Given the description of an element on the screen output the (x, y) to click on. 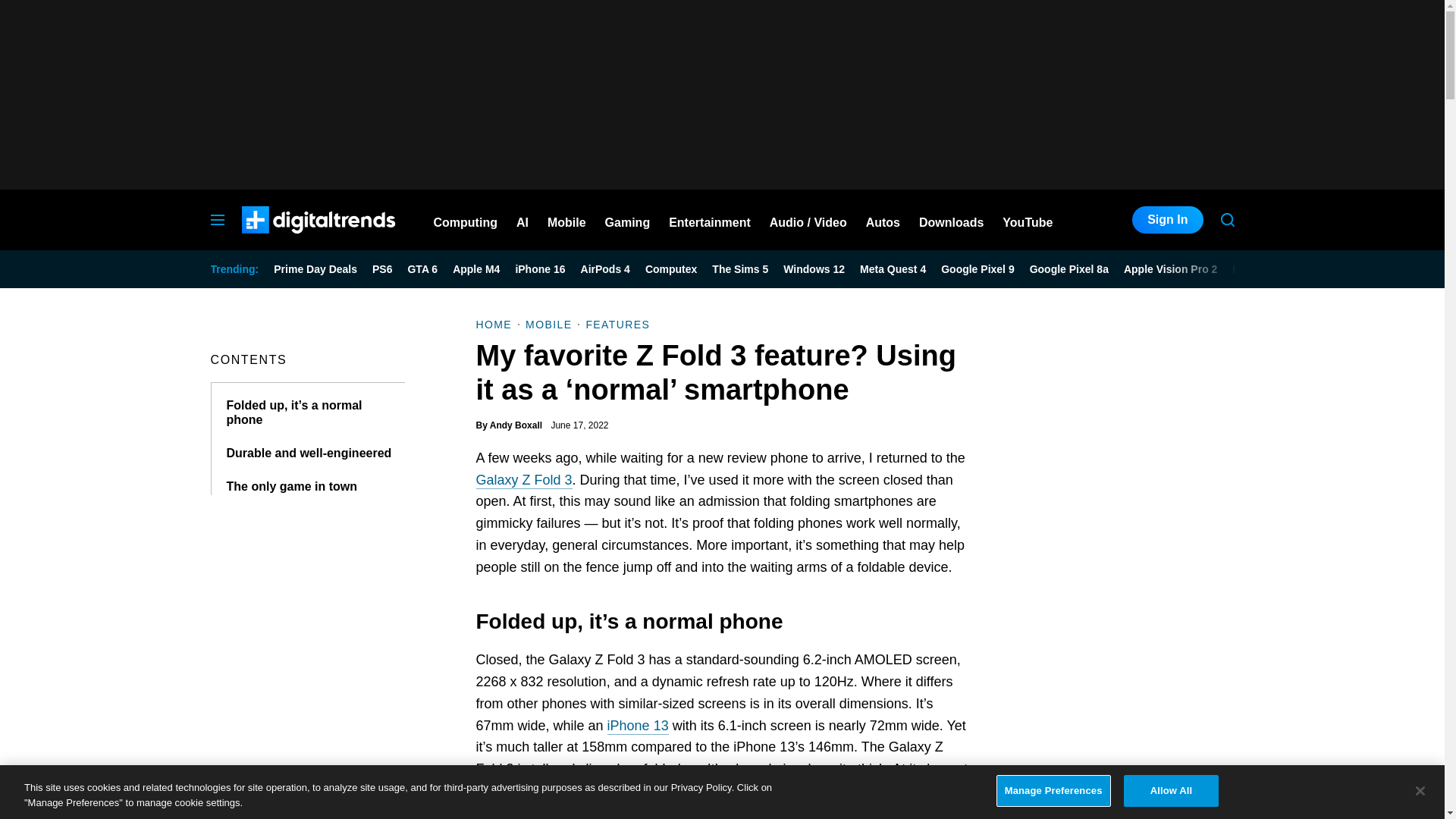
Downloads (951, 219)
Computing (465, 219)
Entertainment (709, 219)
AI (522, 219)
Gaming (627, 219)
Sign In (1167, 219)
YouTube (1027, 219)
Mobile (566, 219)
Autos (882, 219)
